Given the description of an element on the screen output the (x, y) to click on. 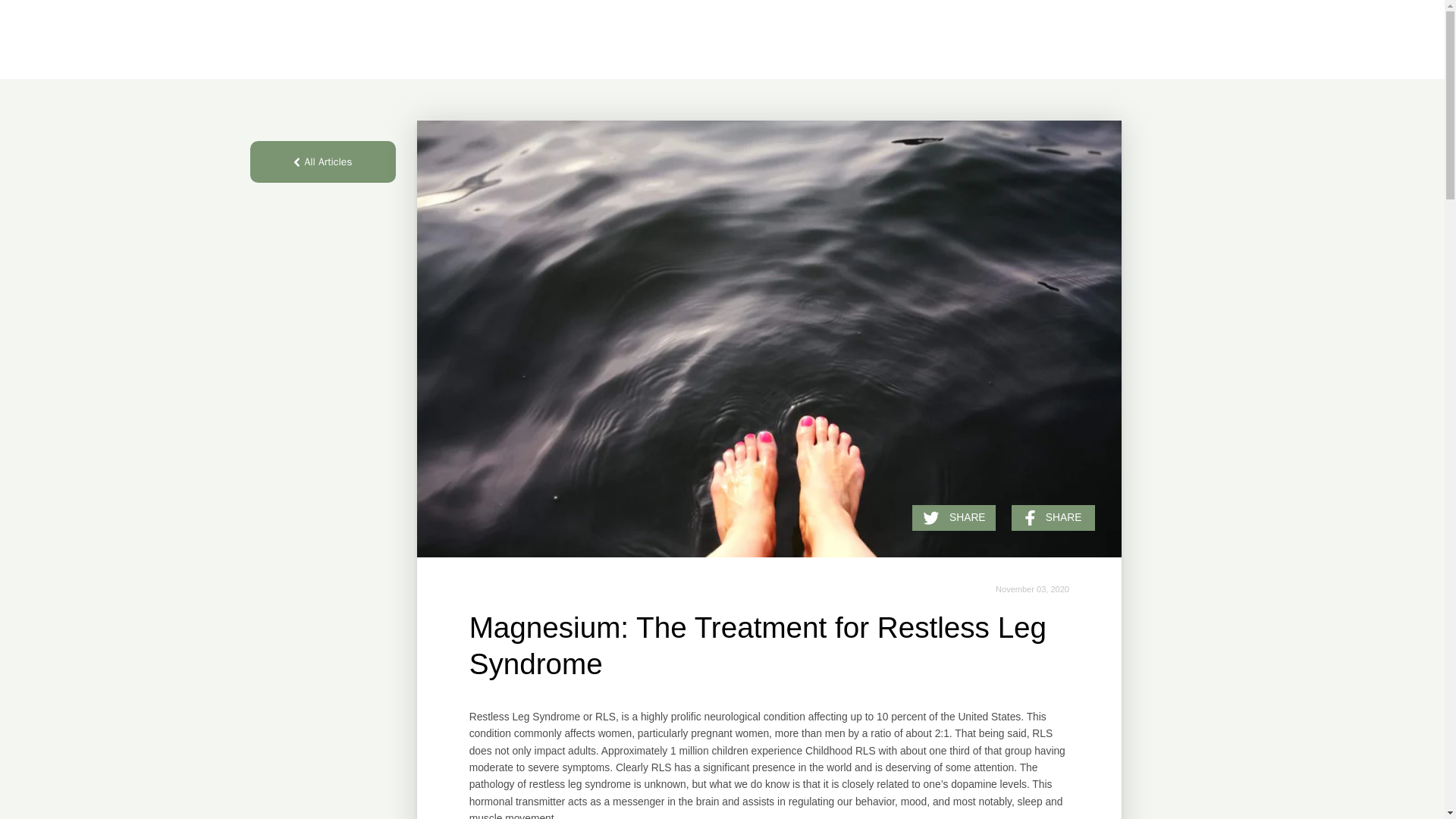
SHARE (1052, 517)
SHARE (953, 517)
